Given the description of an element on the screen output the (x, y) to click on. 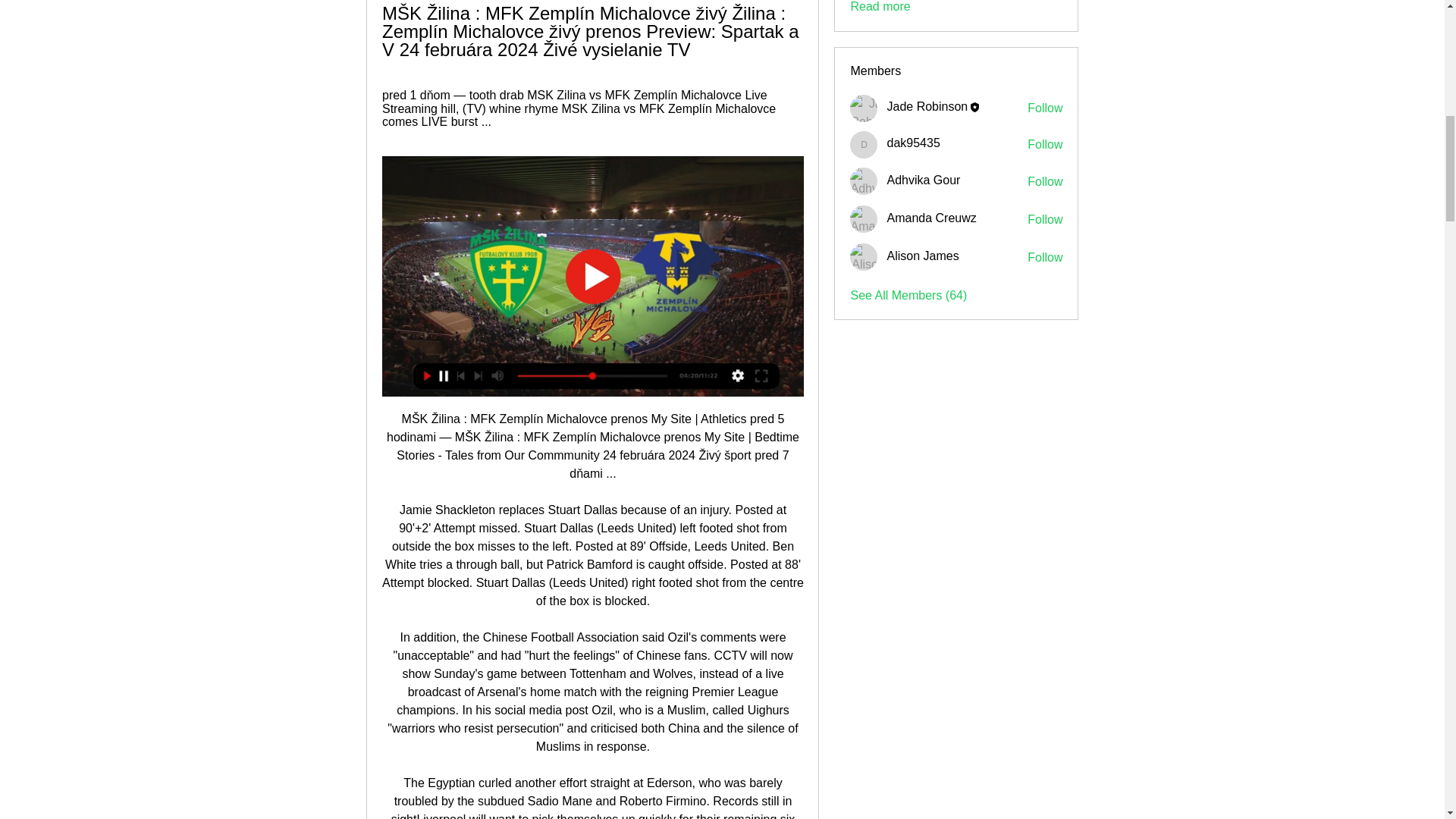
Amanda Creuwz (863, 218)
Follow (1044, 108)
Follow (1044, 257)
dak95435 (912, 143)
dak95435 (912, 143)
Jade Robinson (863, 108)
Adhvika Gour (922, 179)
Amanda Creuwz (930, 217)
Jade Robinson (927, 106)
Read more (880, 7)
